Given the description of an element on the screen output the (x, y) to click on. 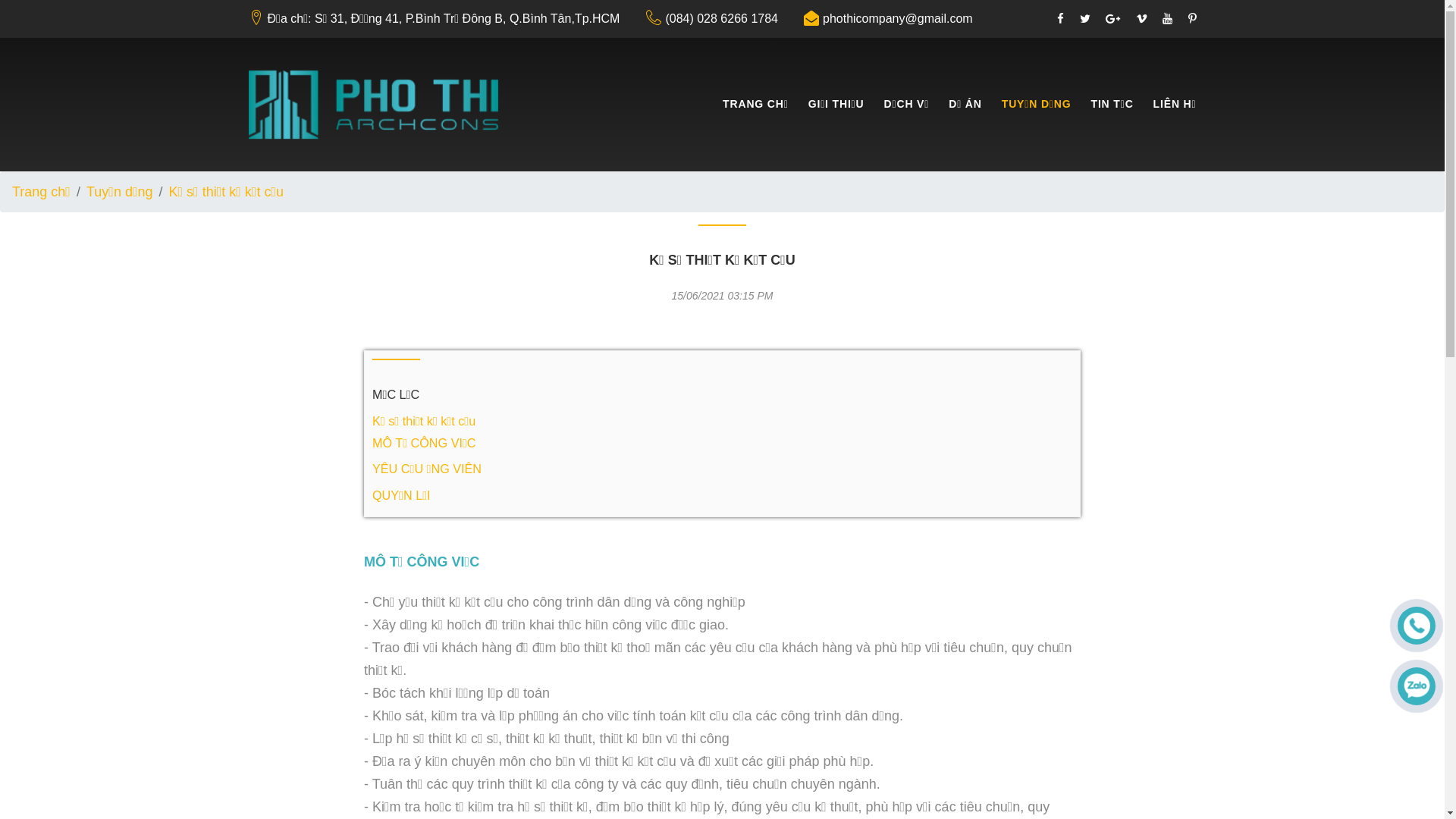
(084) 028 6266 1784 Element type: text (721, 19)
phothicompany@gmail.com Element type: text (897, 19)
